Given the description of an element on the screen output the (x, y) to click on. 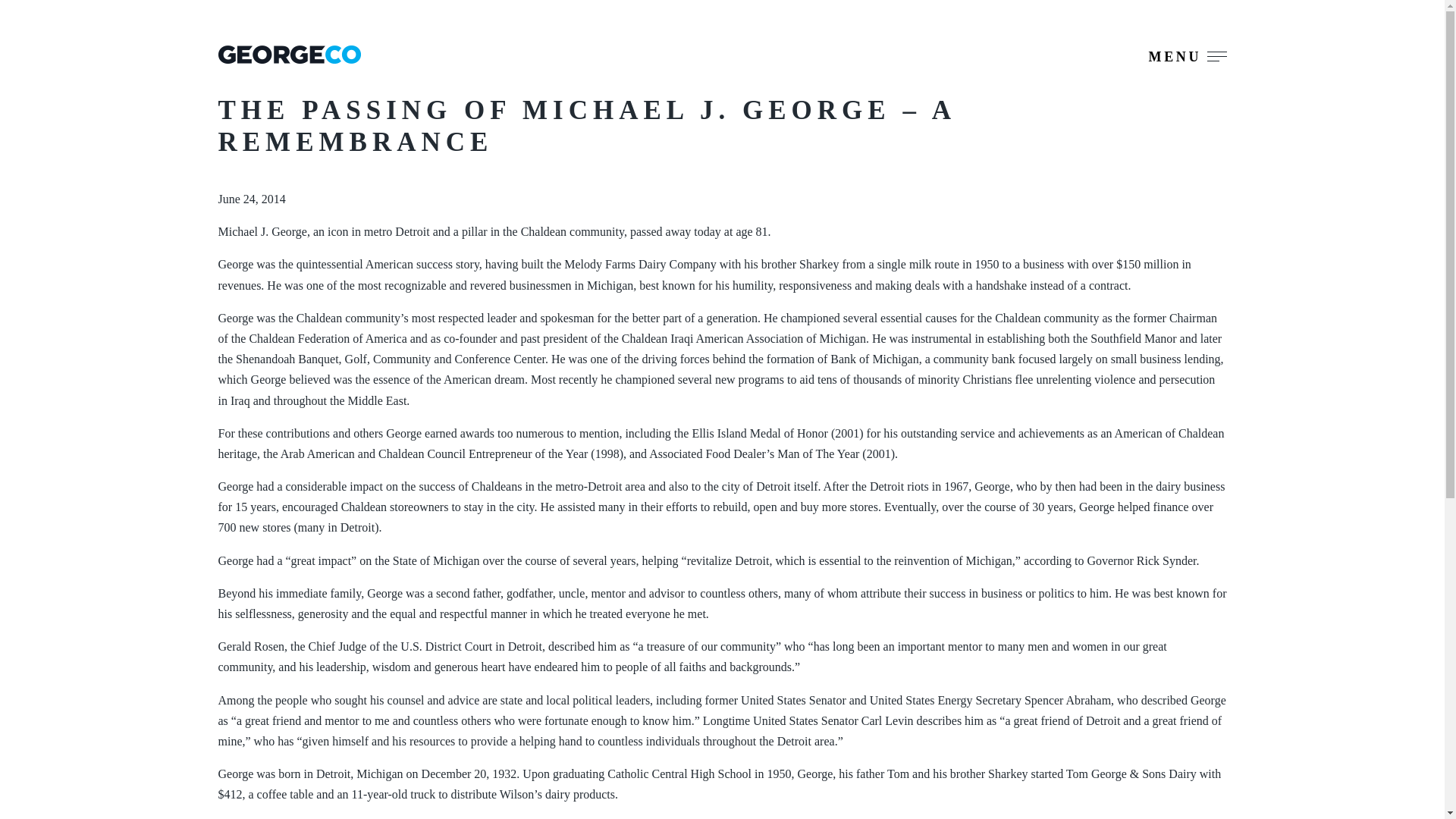
MENU (1187, 56)
